Given the description of an element on the screen output the (x, y) to click on. 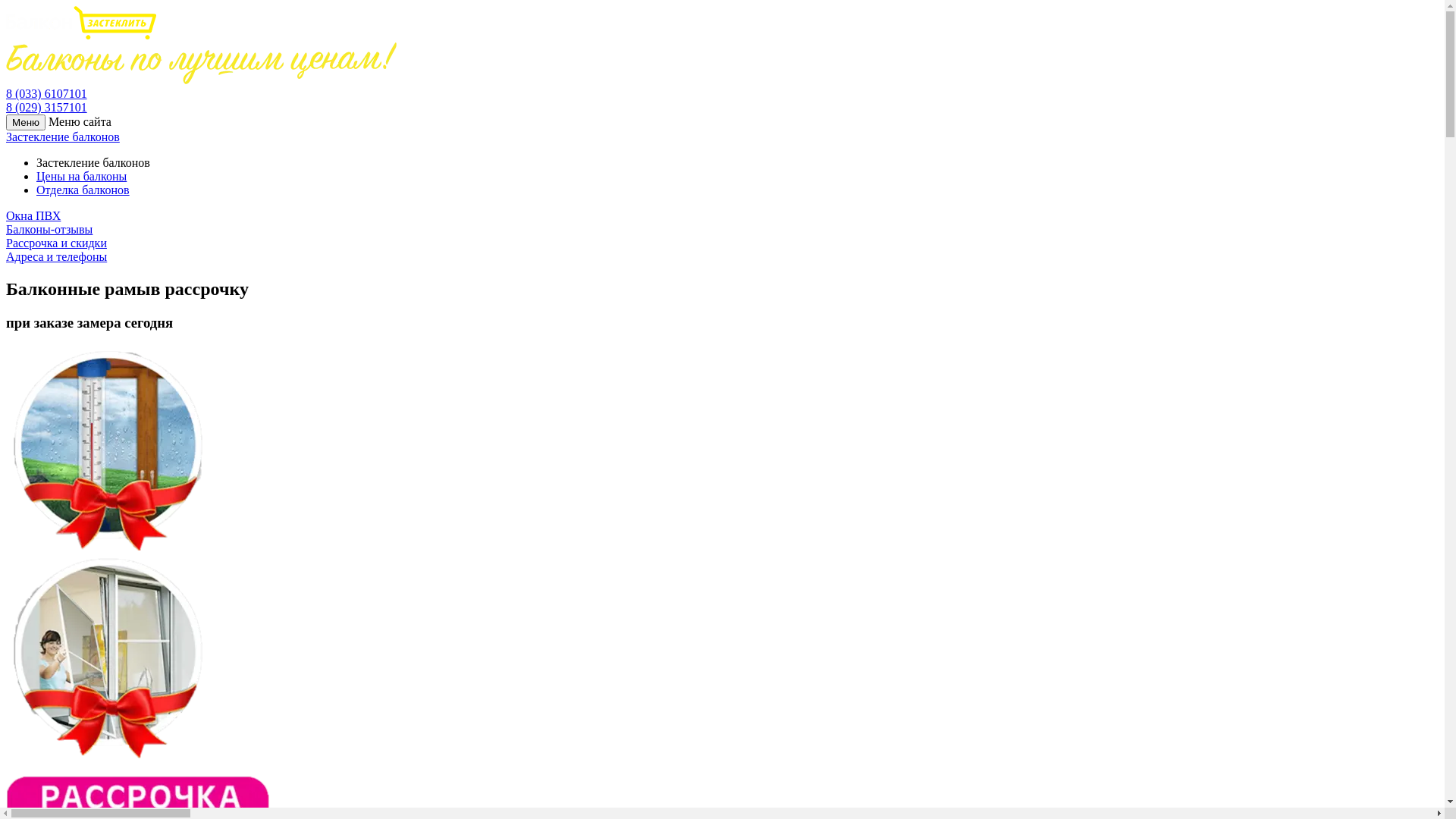
8 (029) 3157101 Element type: text (46, 106)
8 (033) 6107101 Element type: text (46, 93)
